Given the description of an element on the screen output the (x, y) to click on. 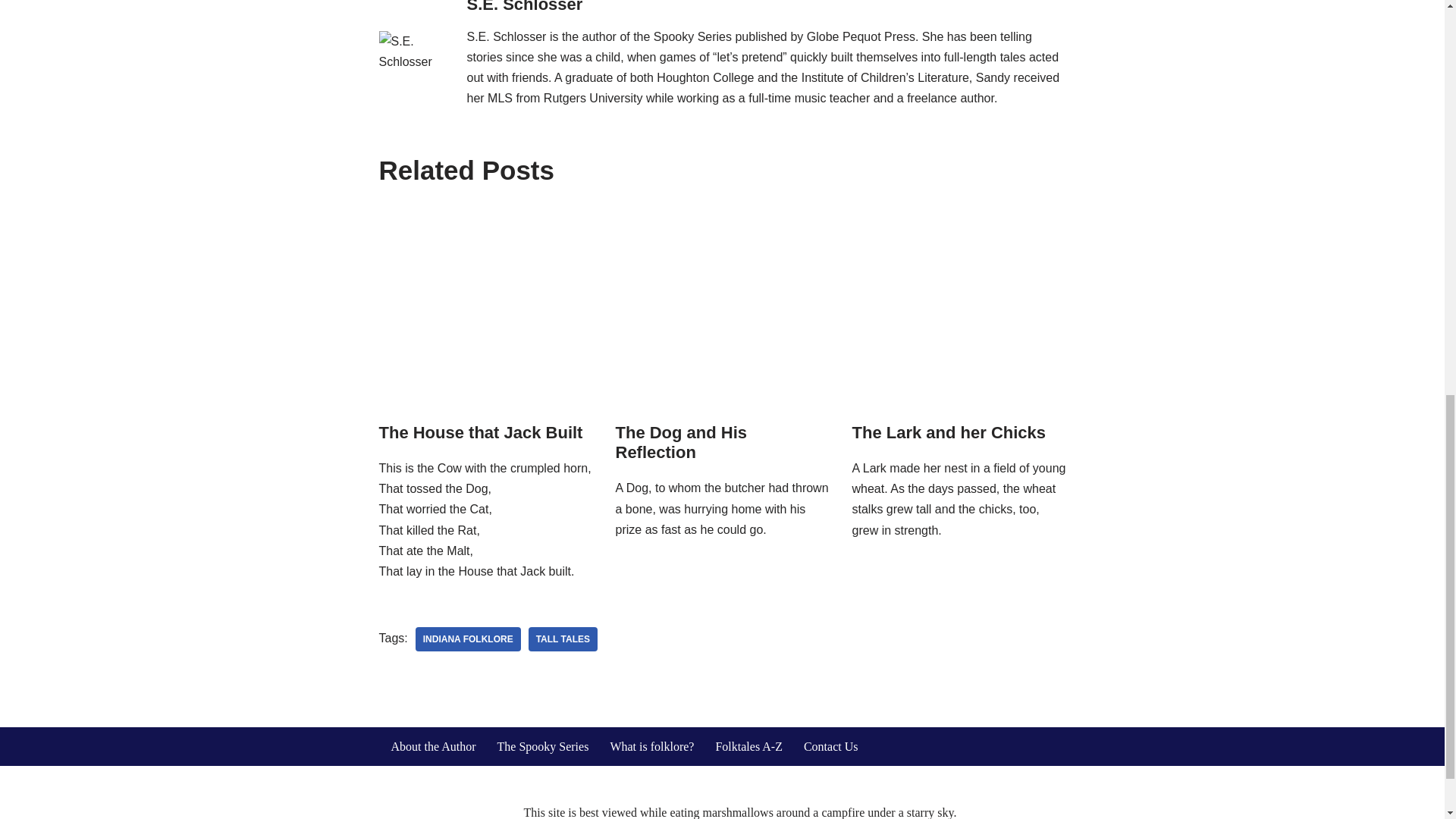
Indiana folklore (467, 639)
Tall Tales (562, 639)
